Given the description of an element on the screen output the (x, y) to click on. 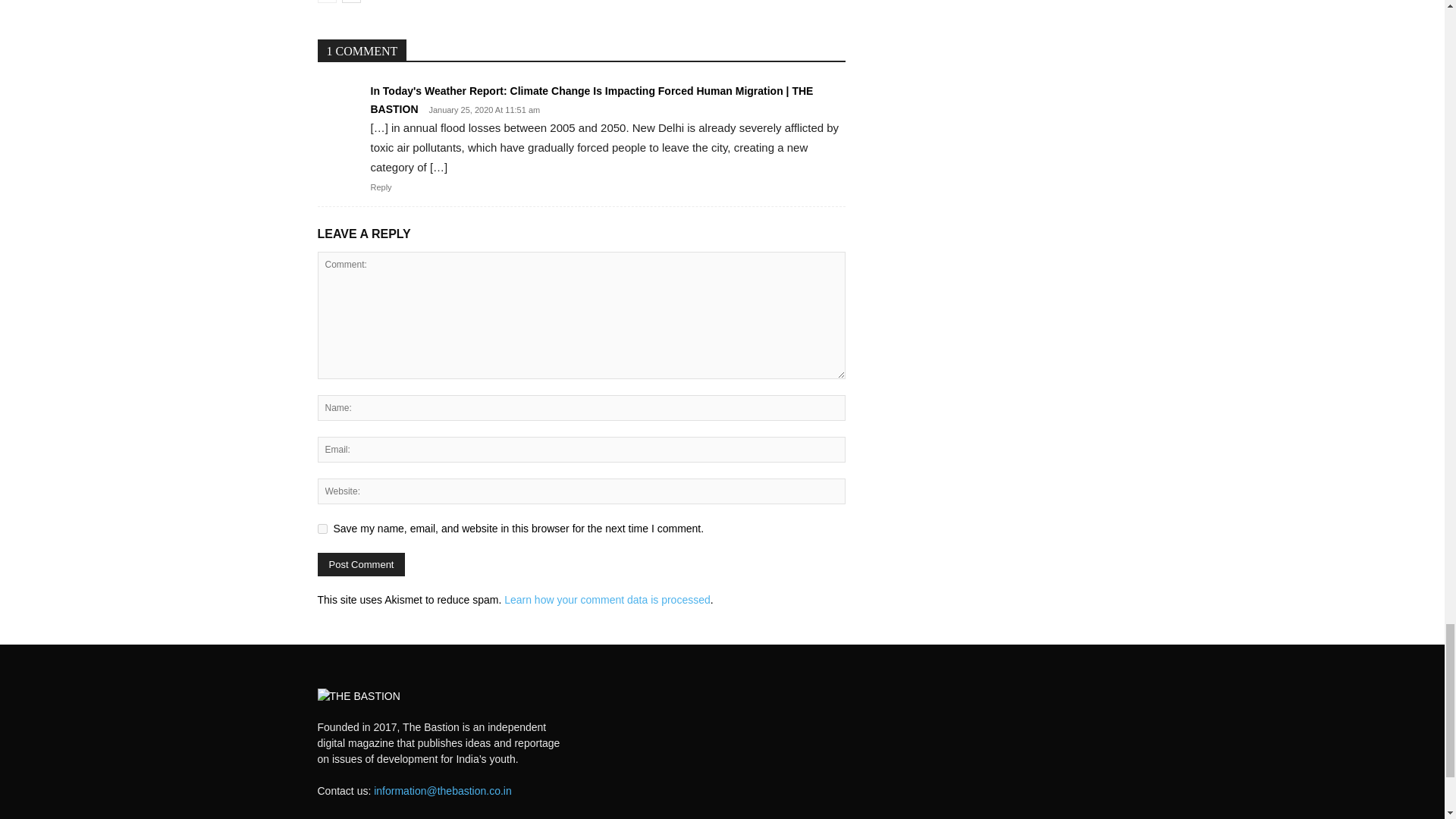
yes (321, 528)
Post Comment (360, 564)
